Given the description of an element on the screen output the (x, y) to click on. 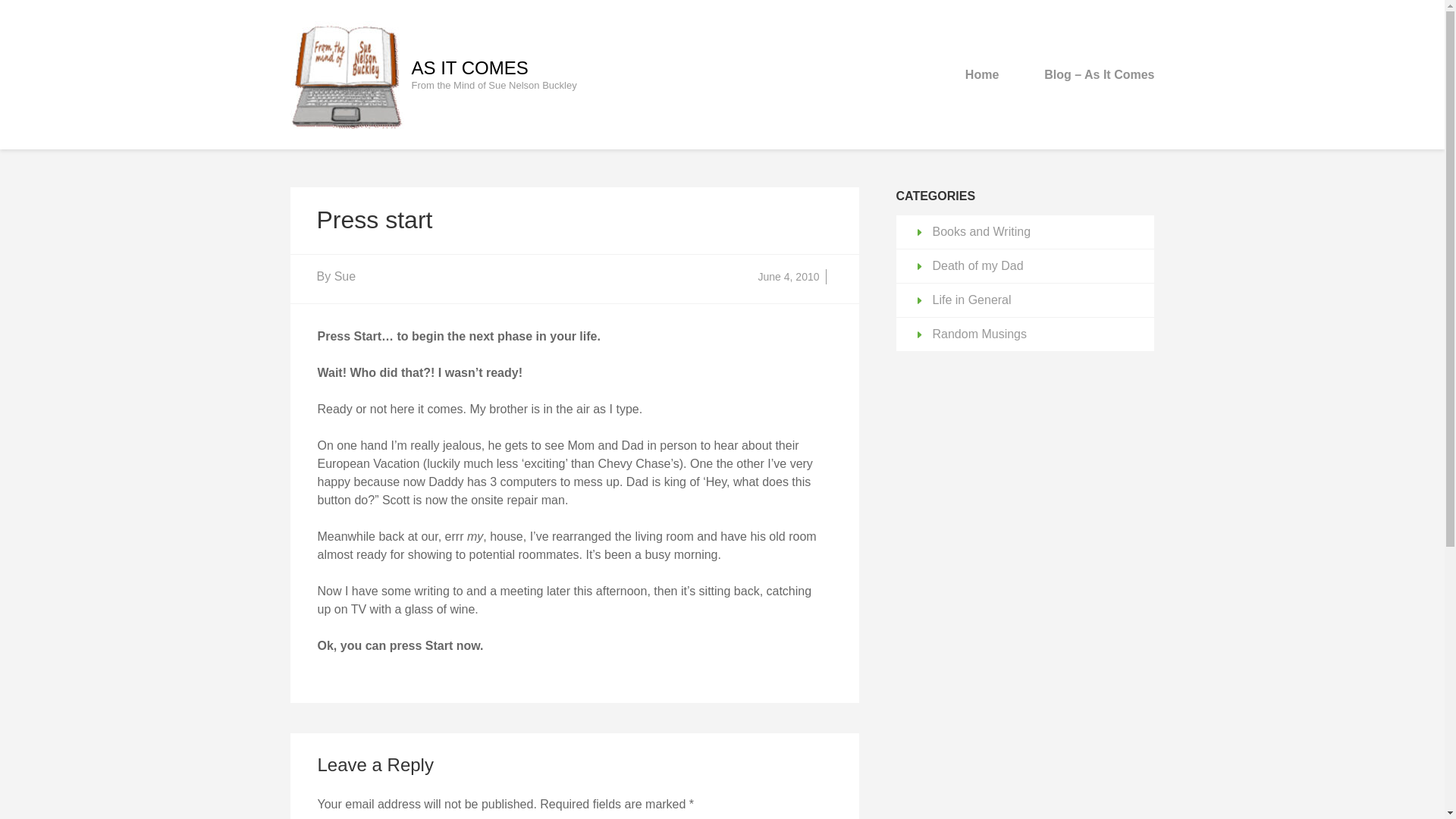
Home (981, 74)
AS IT COMES (468, 67)
Random Musings (980, 334)
June 4, 2010 (788, 276)
Death of my Dad (978, 266)
Life in General (972, 300)
Books and Writing (981, 231)
Sue (344, 276)
